Given the description of an element on the screen output the (x, y) to click on. 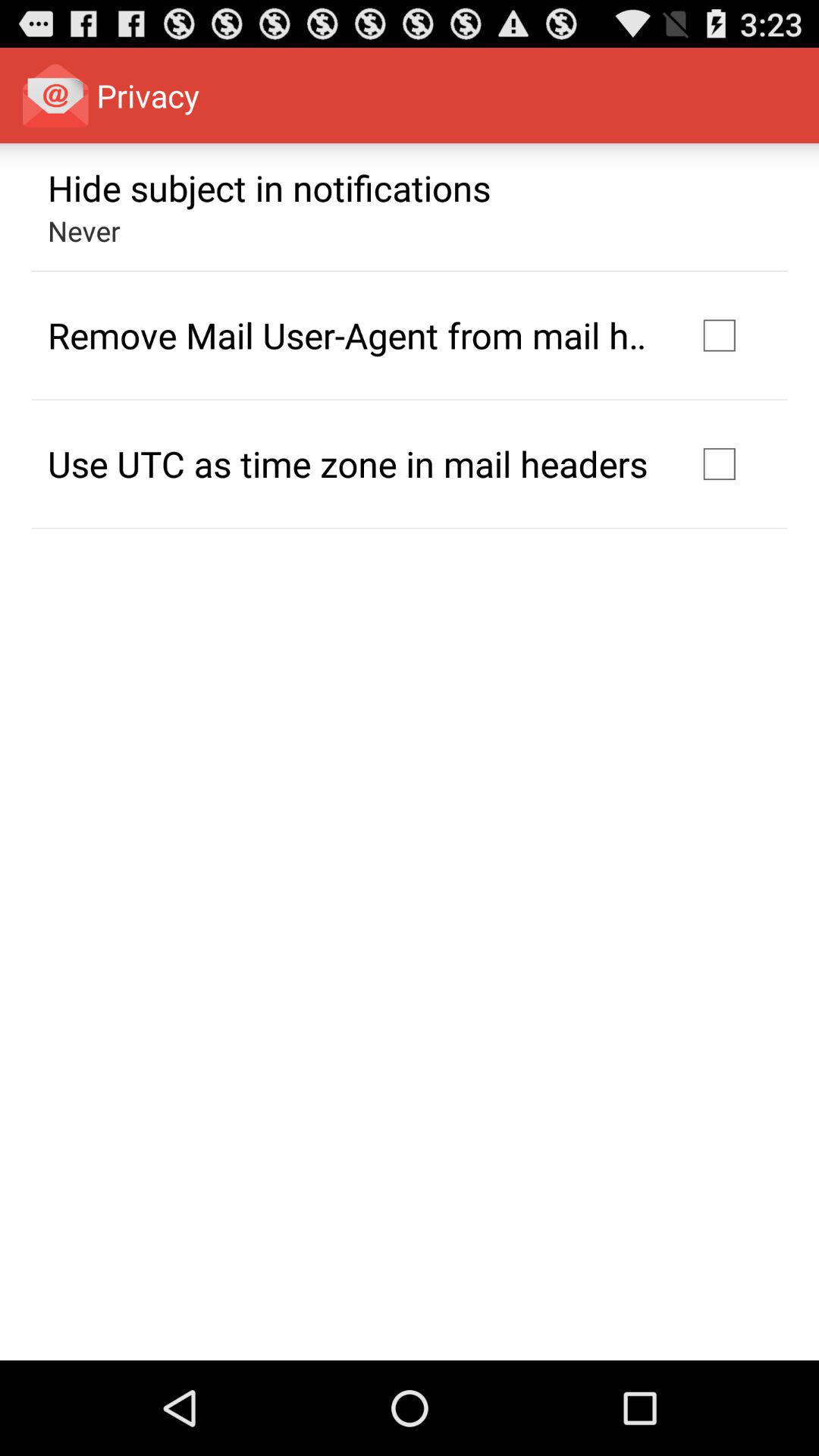
tap the app below hide subject in (83, 230)
